Given the description of an element on the screen output the (x, y) to click on. 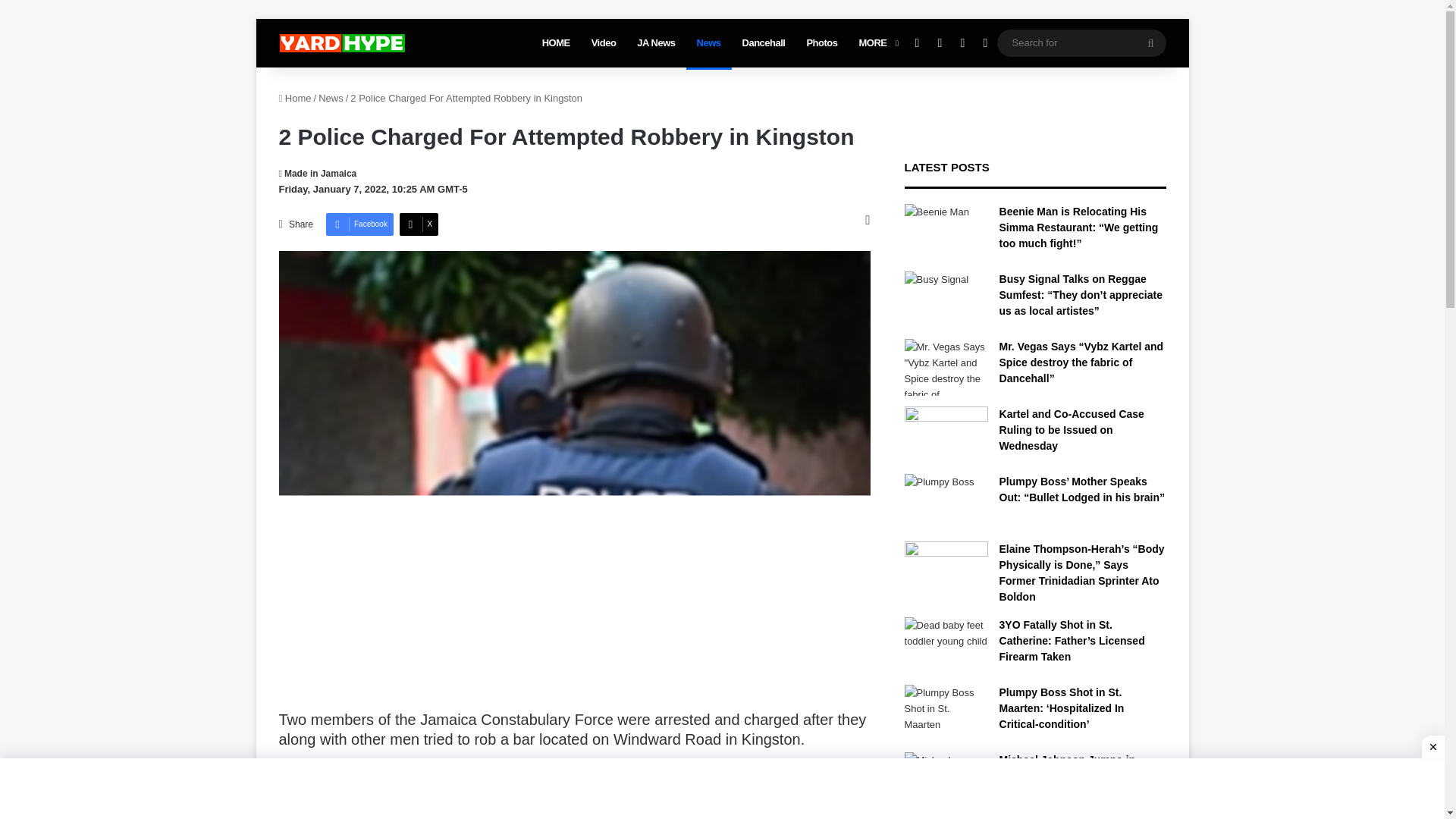
Facebook (359, 223)
Home (295, 98)
Dancehall (764, 42)
Made in Jamaica (317, 173)
Search for (1150, 42)
Made in Jamaica (317, 173)
JA News (655, 42)
HOME (555, 42)
Search for (1080, 42)
X (418, 223)
Video (603, 42)
YARDHYPE (341, 43)
News (330, 98)
News (708, 42)
Facebook (359, 223)
